Given the description of an element on the screen output the (x, y) to click on. 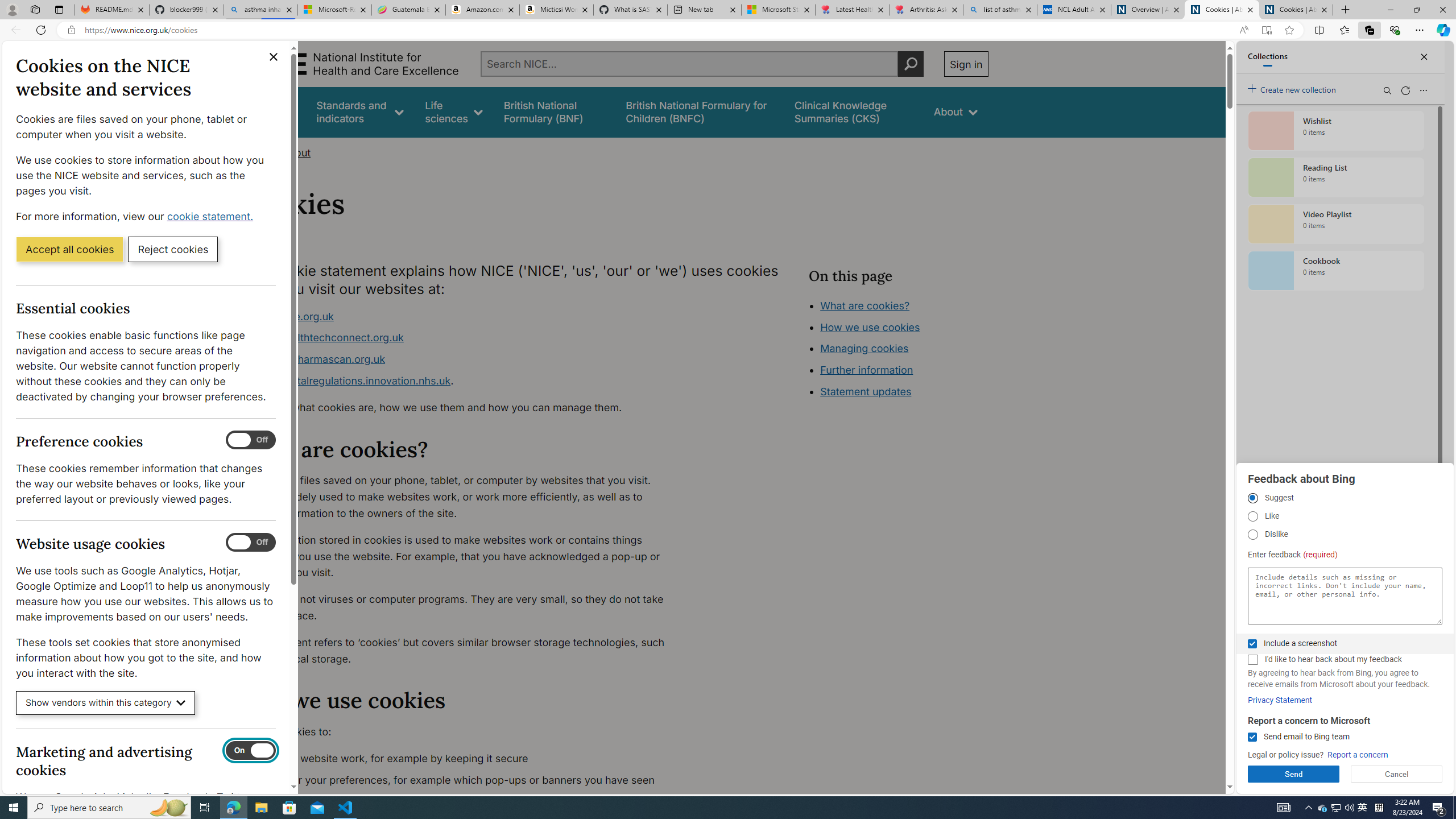
Include a screenshot (1251, 643)
www.digitalregulations.innovation.nhs.uk (351, 380)
